Given the description of an element on the screen output the (x, y) to click on. 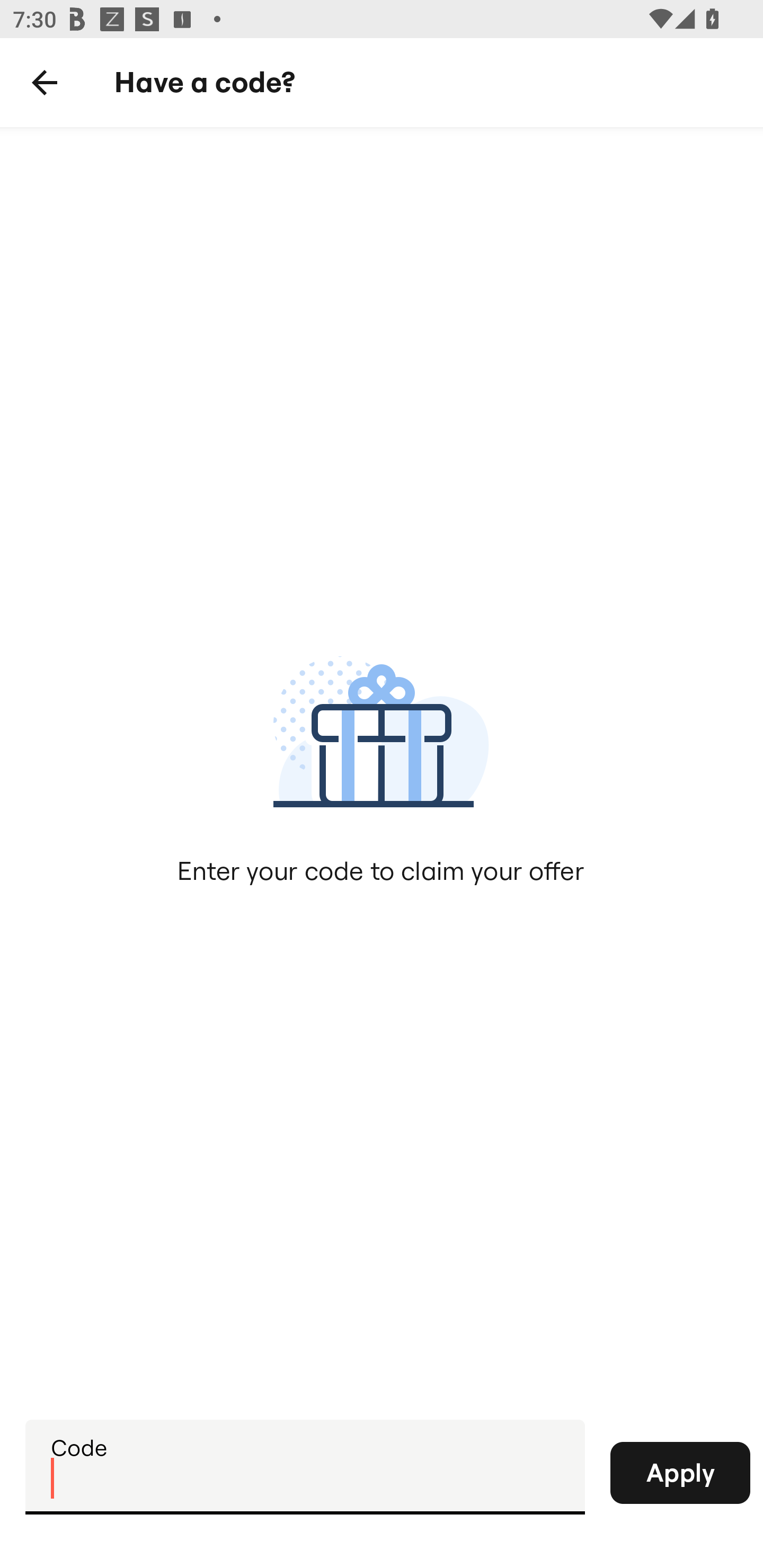
Back (44, 82)
Code (305, 1466)
Apply (680, 1473)
